Given the description of an element on the screen output the (x, y) to click on. 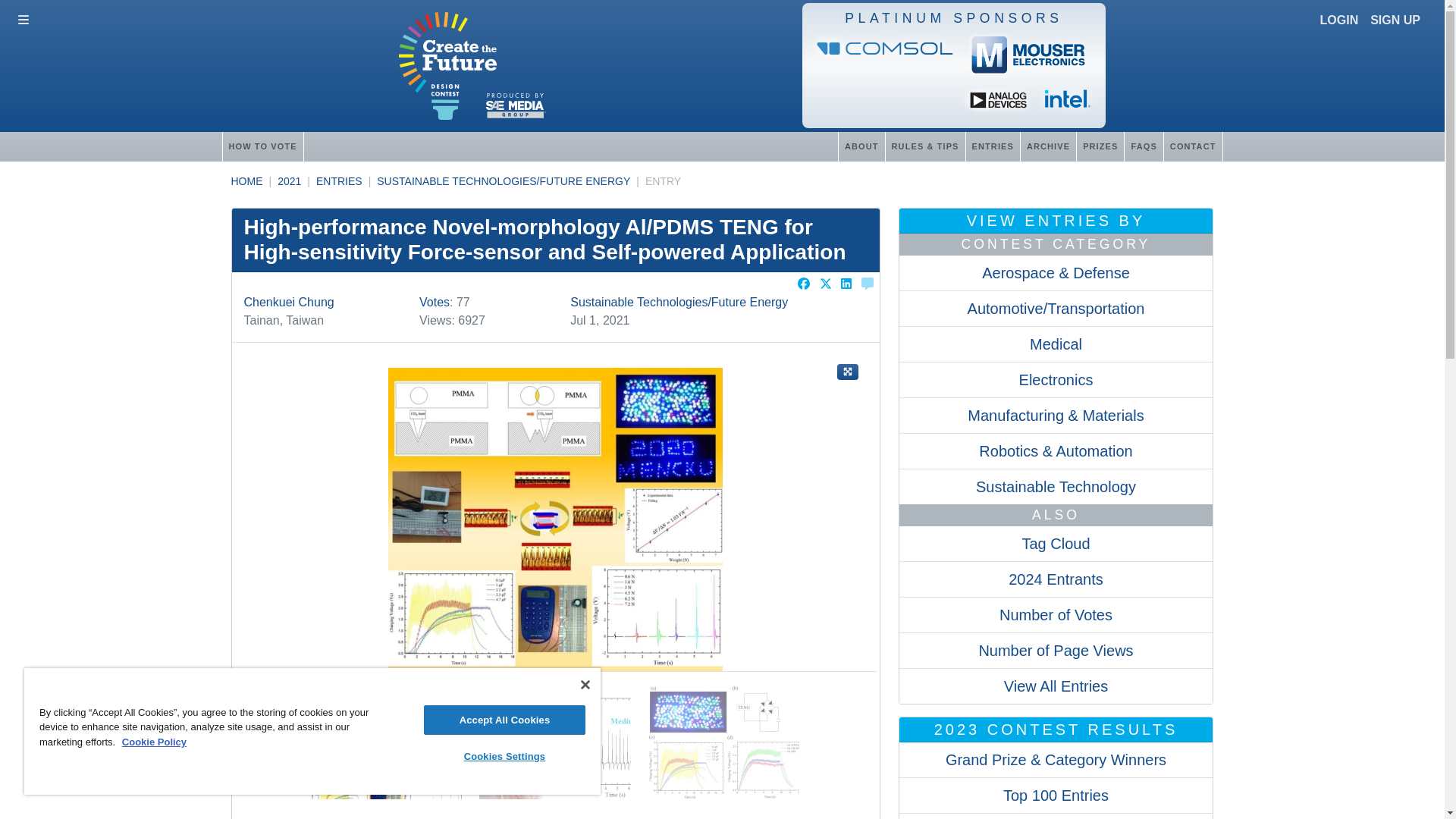
ARCHIVE (1047, 146)
SIGN UP (1395, 20)
Chenkuei Chung (289, 301)
FAQS (1142, 146)
2021 (289, 181)
CONTACT (1193, 146)
Votes (434, 301)
LOGIN (1339, 20)
HOW TO VOTE (261, 146)
HOME (246, 181)
PRIZES (1099, 146)
ENTRIES (992, 146)
ENTRIES (338, 181)
ABOUT (861, 146)
